Given the description of an element on the screen output the (x, y) to click on. 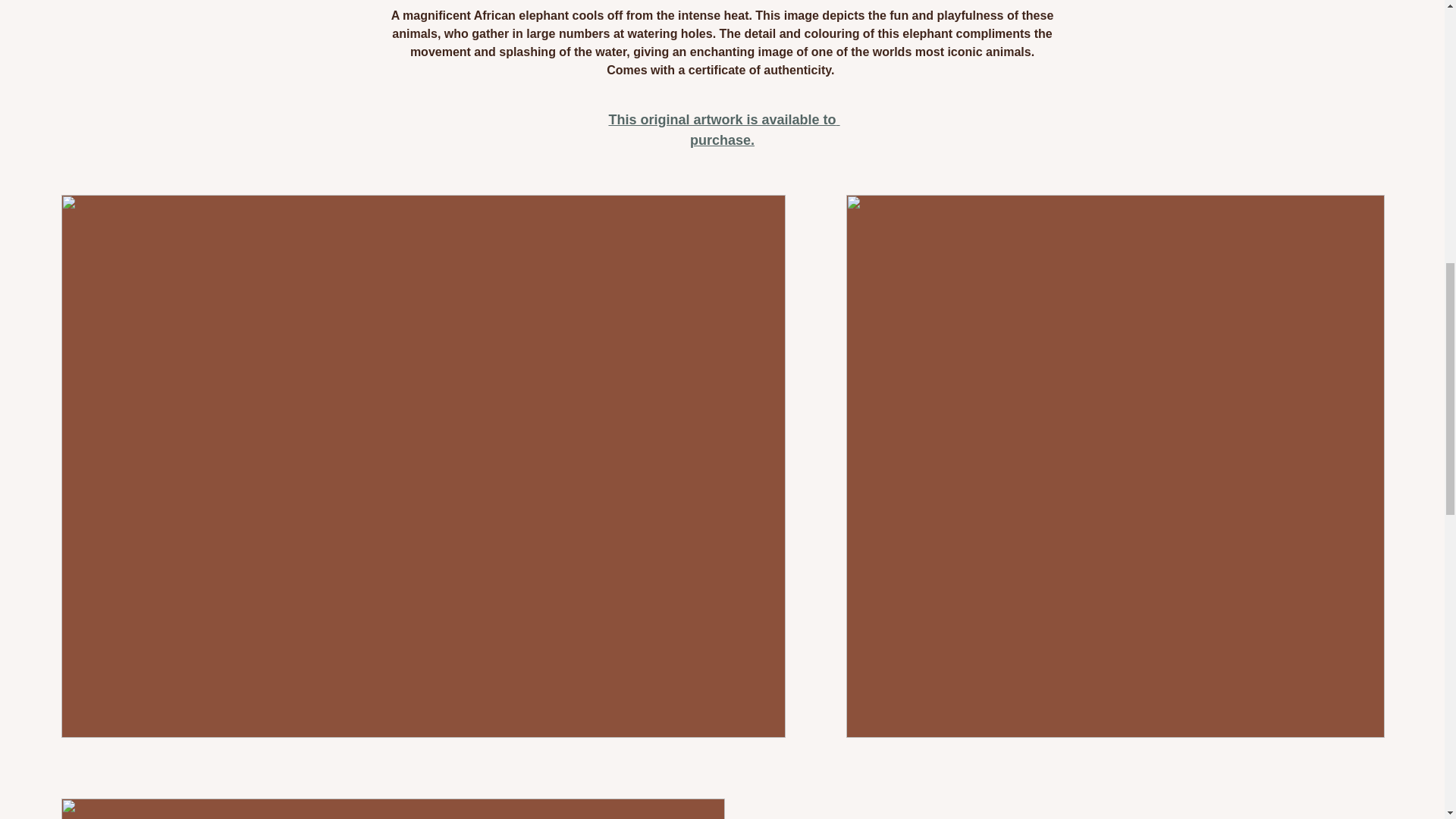
This original artwork is available to purchase. (724, 130)
